Given the description of an element on the screen output the (x, y) to click on. 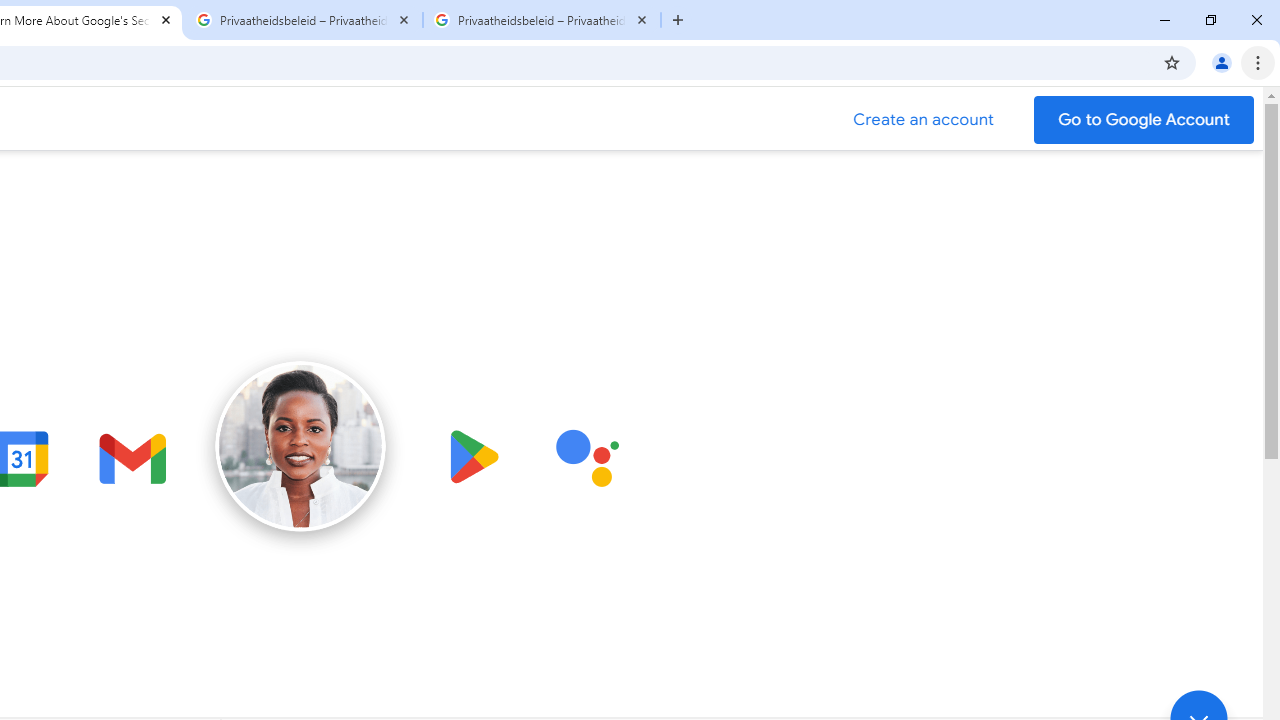
Go to your Google Account (1144, 119)
Create a Google Account (923, 119)
